Given the description of an element on the screen output the (x, y) to click on. 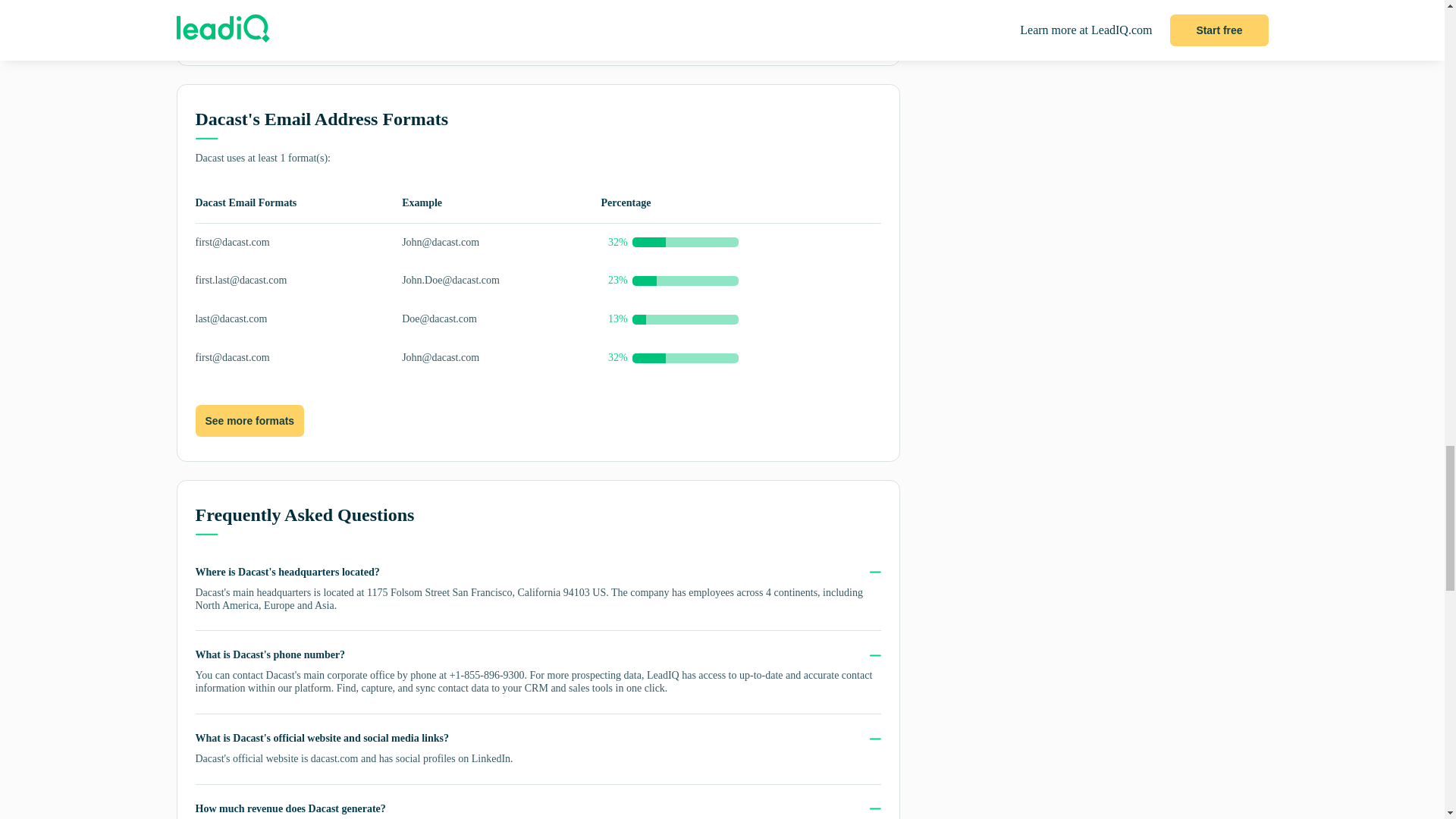
See more formats (249, 421)
LinkedIn (491, 758)
dacast.com (334, 758)
See more formats (249, 420)
